Given the description of an element on the screen output the (x, y) to click on. 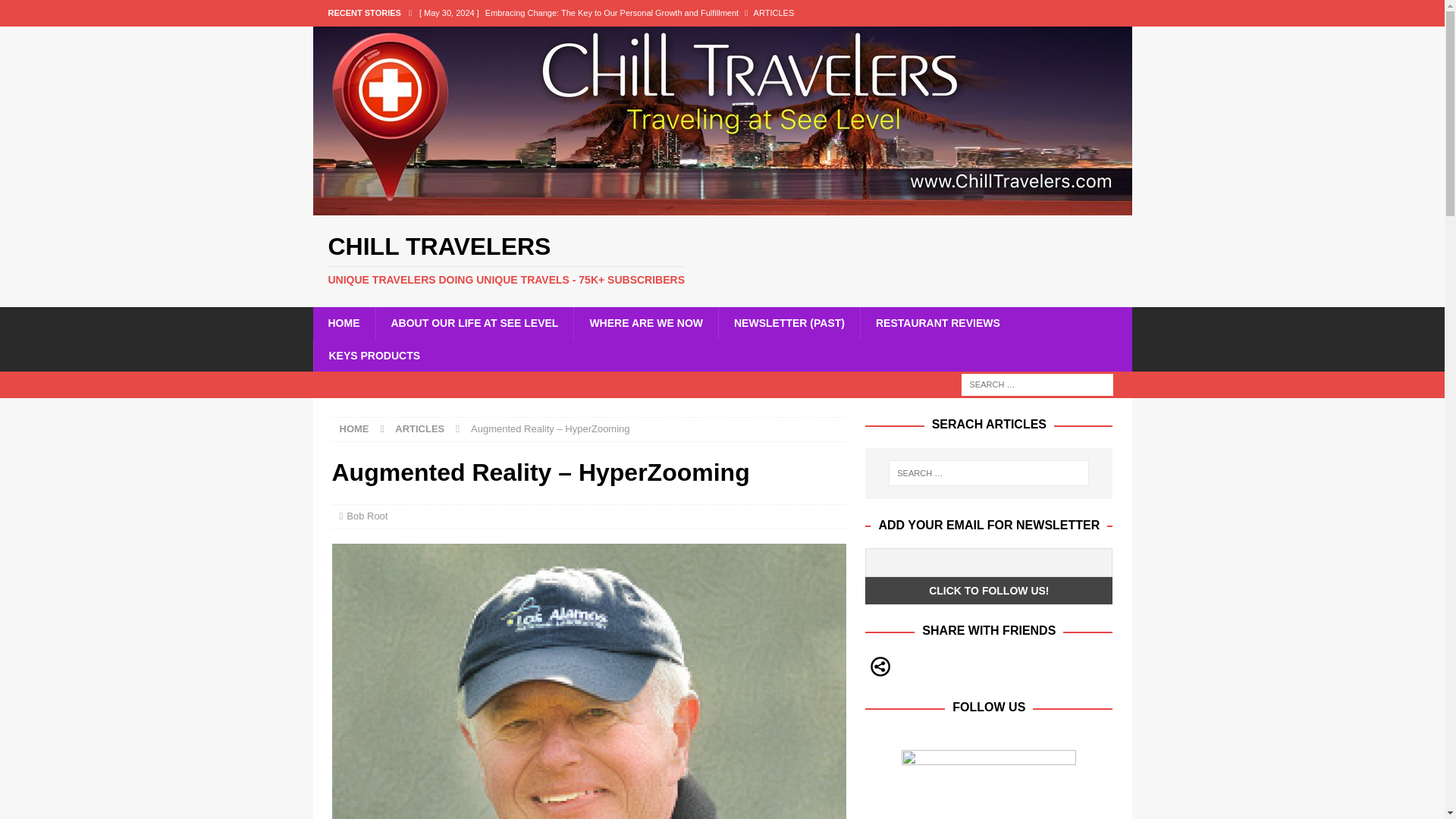
WHERE ARE WE NOW (645, 323)
Chill Travelers (721, 259)
ARTICLES (419, 428)
ABOUT OUR LIFE AT SEE LEVEL (473, 323)
Chill Travelers at SeeLevel (628, 38)
RESTAURANT REVIEWS (937, 323)
HOME (354, 428)
Bob Root (366, 515)
Click to Follow us! (988, 590)
KEYS PRODUCTS (374, 355)
Search (56, 11)
Chill Travelers (722, 206)
HOME (343, 323)
